Given the description of an element on the screen output the (x, y) to click on. 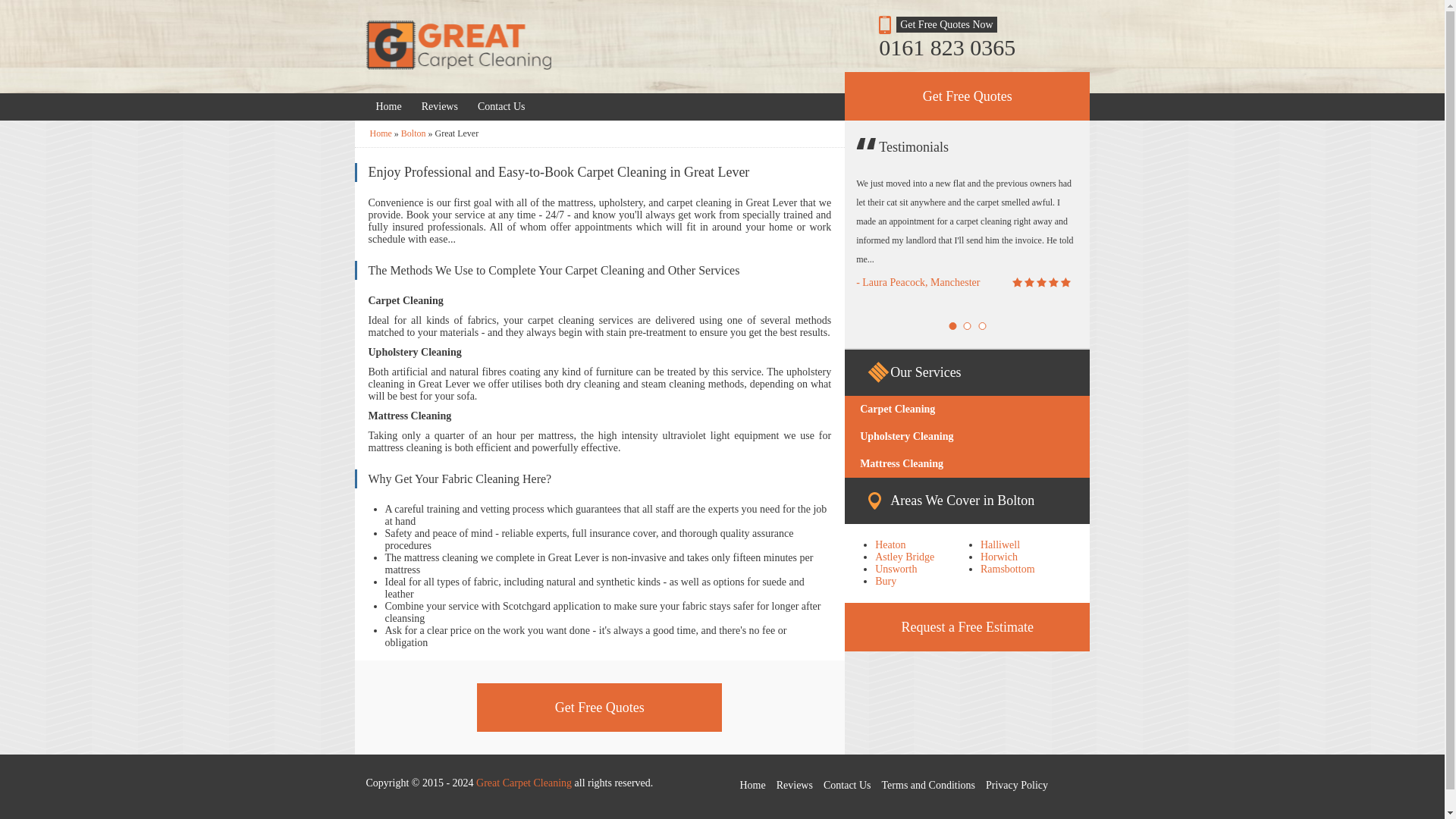
Carpet Cleaning (966, 409)
Heaton (890, 544)
Get Free Quotes Today (966, 96)
Home (387, 106)
Great Carpet CleaningBolton (412, 132)
Call Us Now (967, 47)
Get Free Quotes (966, 96)
Great Carpet Cleaning (457, 46)
Carpet Cleaning Testimonials (439, 106)
Bury (885, 581)
Reviews (439, 106)
Great Carpet Cleaning (380, 132)
Mattress Cleaning (966, 463)
Ramsbottom (1007, 568)
Upholstery Cleaning (966, 436)
